Given the description of an element on the screen output the (x, y) to click on. 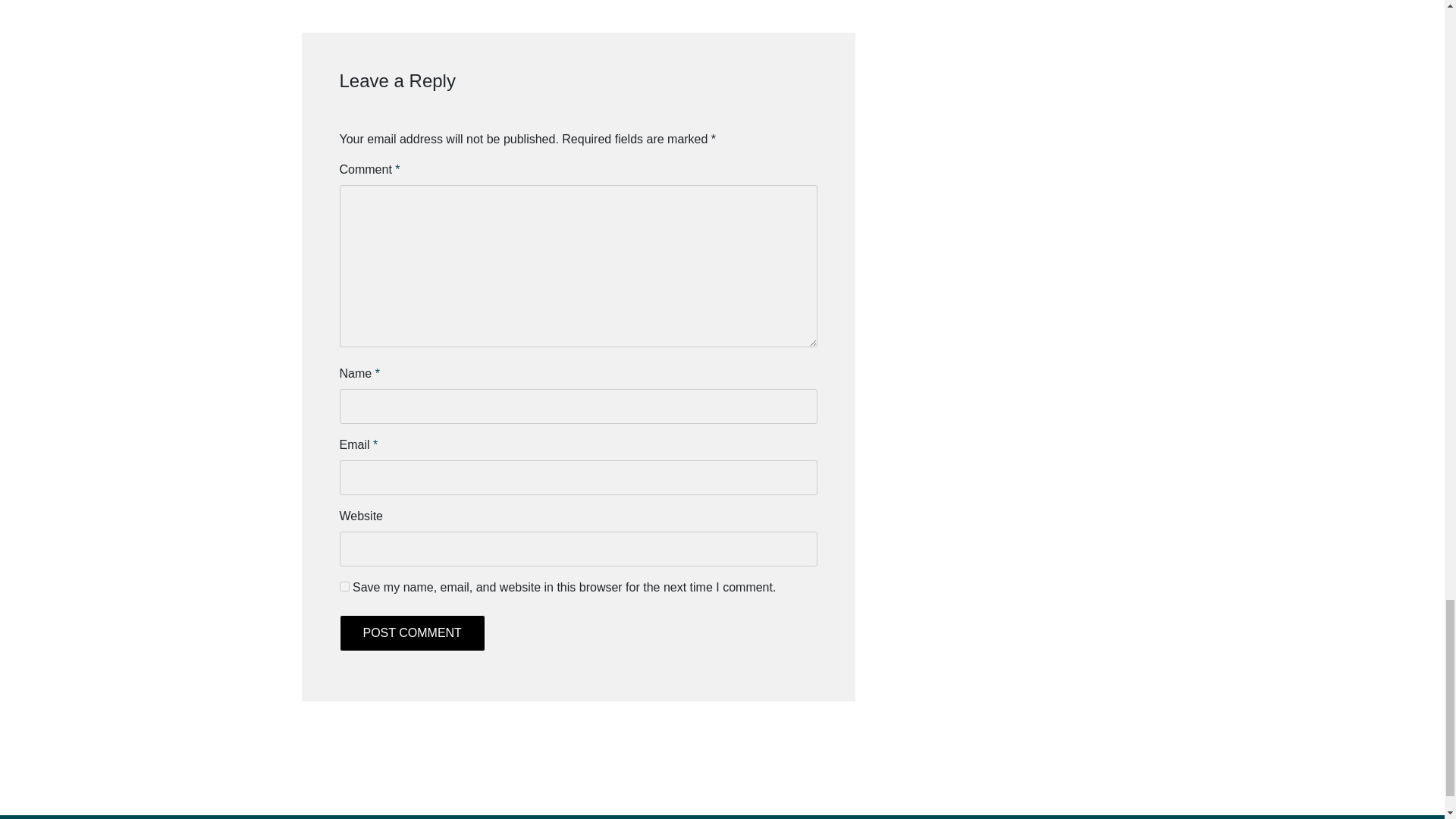
yes (344, 586)
Post Comment (411, 633)
Post Comment (411, 633)
